Given the description of an element on the screen output the (x, y) to click on. 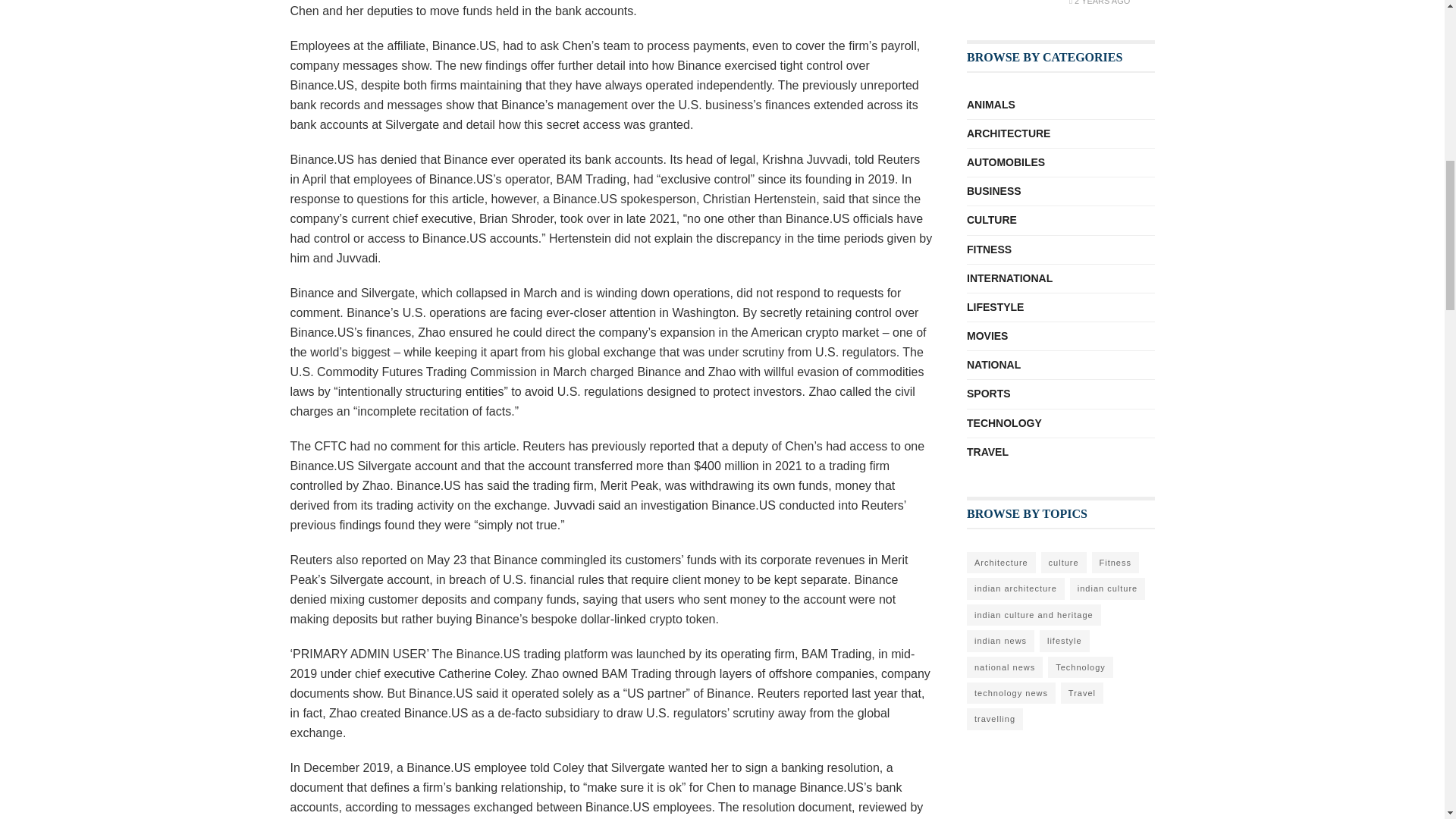
You can add some category description here. (994, 307)
You can add some category description here. (993, 364)
You can add some category description here. (991, 220)
You can add some category description here. (988, 393)
